Given the description of an element on the screen output the (x, y) to click on. 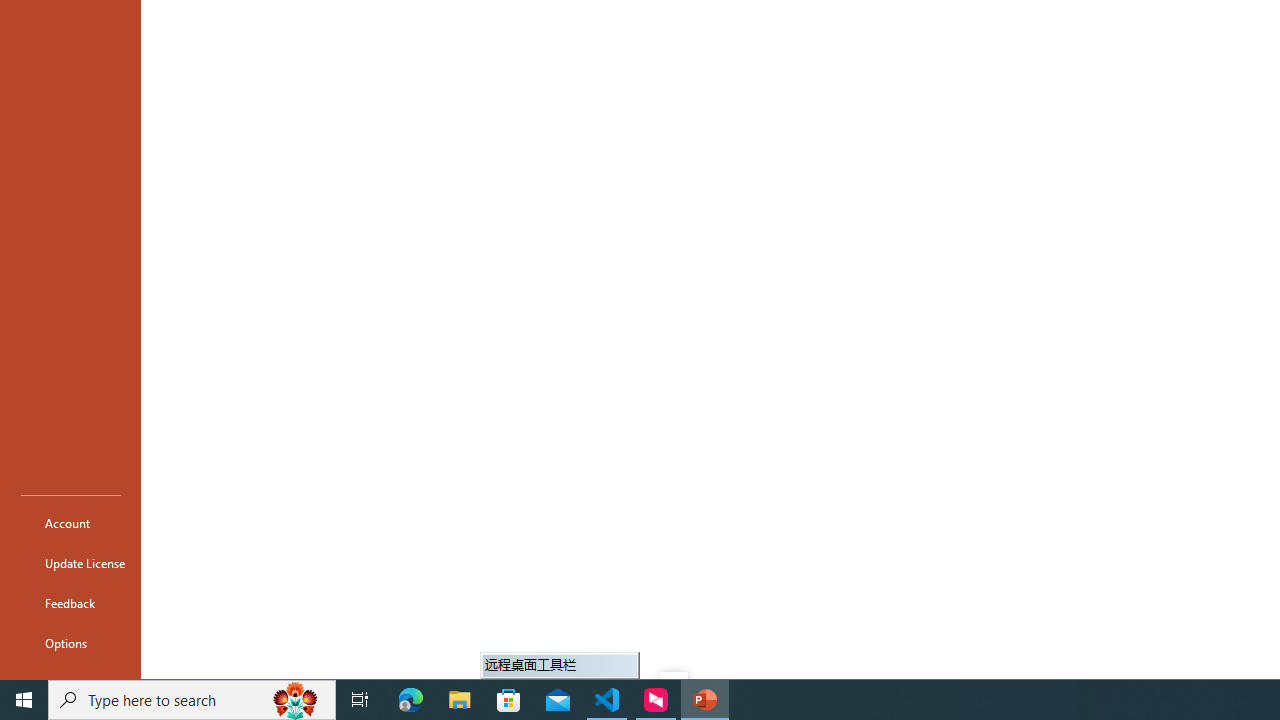
Options (70, 642)
Feedback (70, 602)
Update License (70, 562)
Microsoft Edge (411, 699)
Account (70, 522)
